Given the description of an element on the screen output the (x, y) to click on. 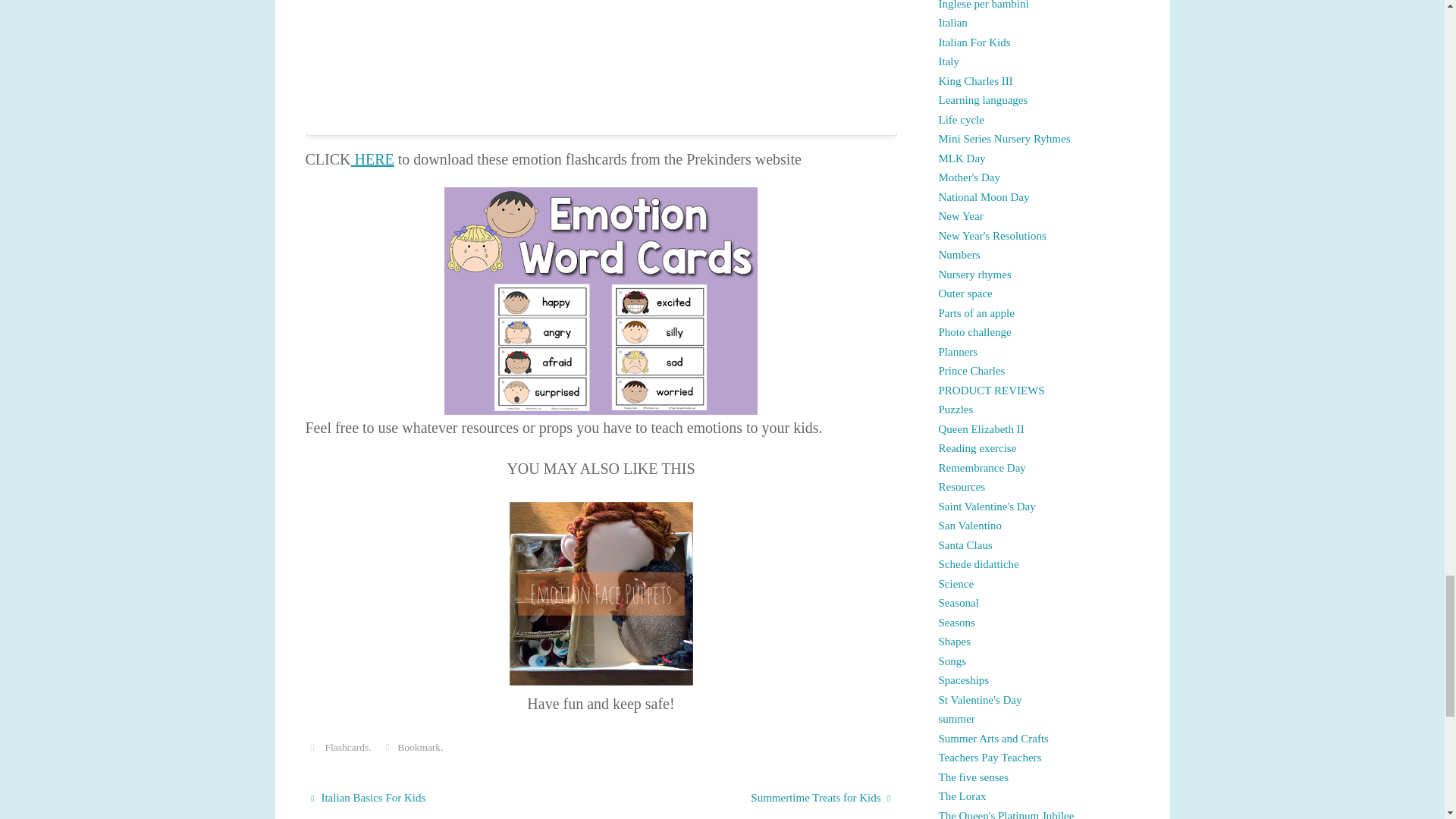
 Bookmark the permalink (387, 747)
Permalink to Teaching Emotions to Kids (419, 747)
Tagged (311, 747)
